Given the description of an element on the screen output the (x, y) to click on. 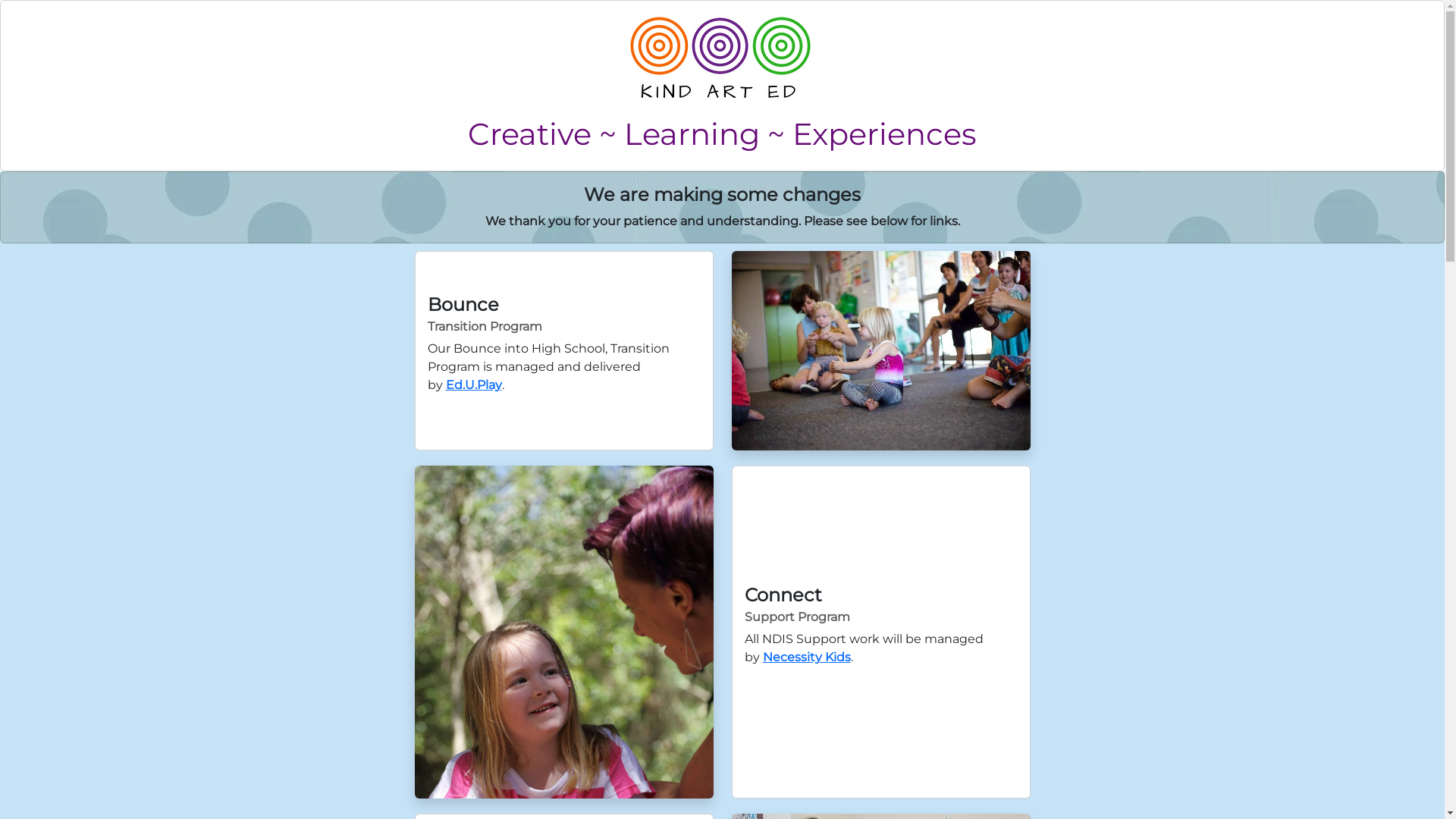
Necessity Kids Element type: text (806, 656)
Ed.U.Play Element type: text (473, 384)
